Given the description of an element on the screen output the (x, y) to click on. 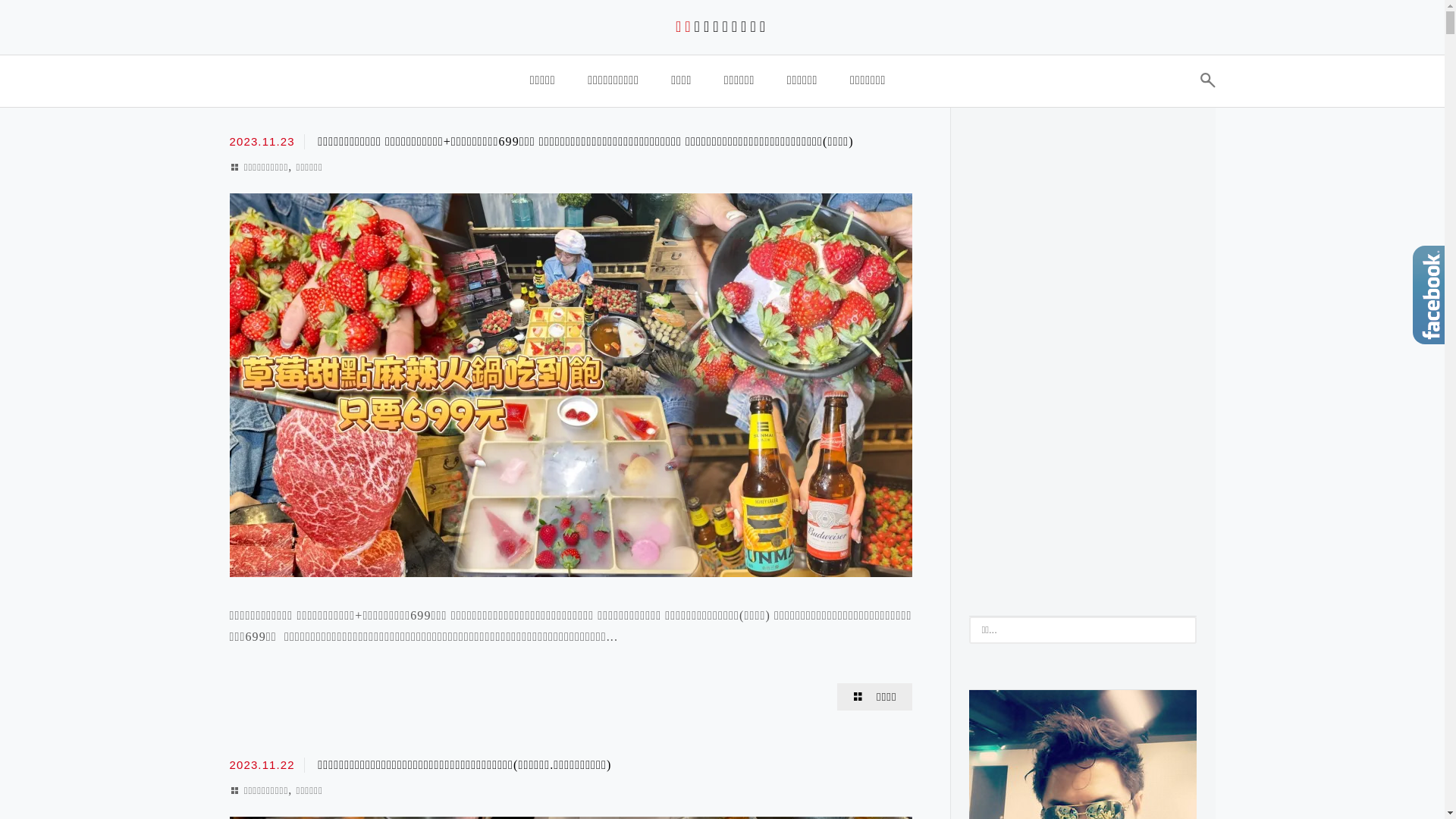
Advertisement Element type: hover (1082, 349)
